Given the description of an element on the screen output the (x, y) to click on. 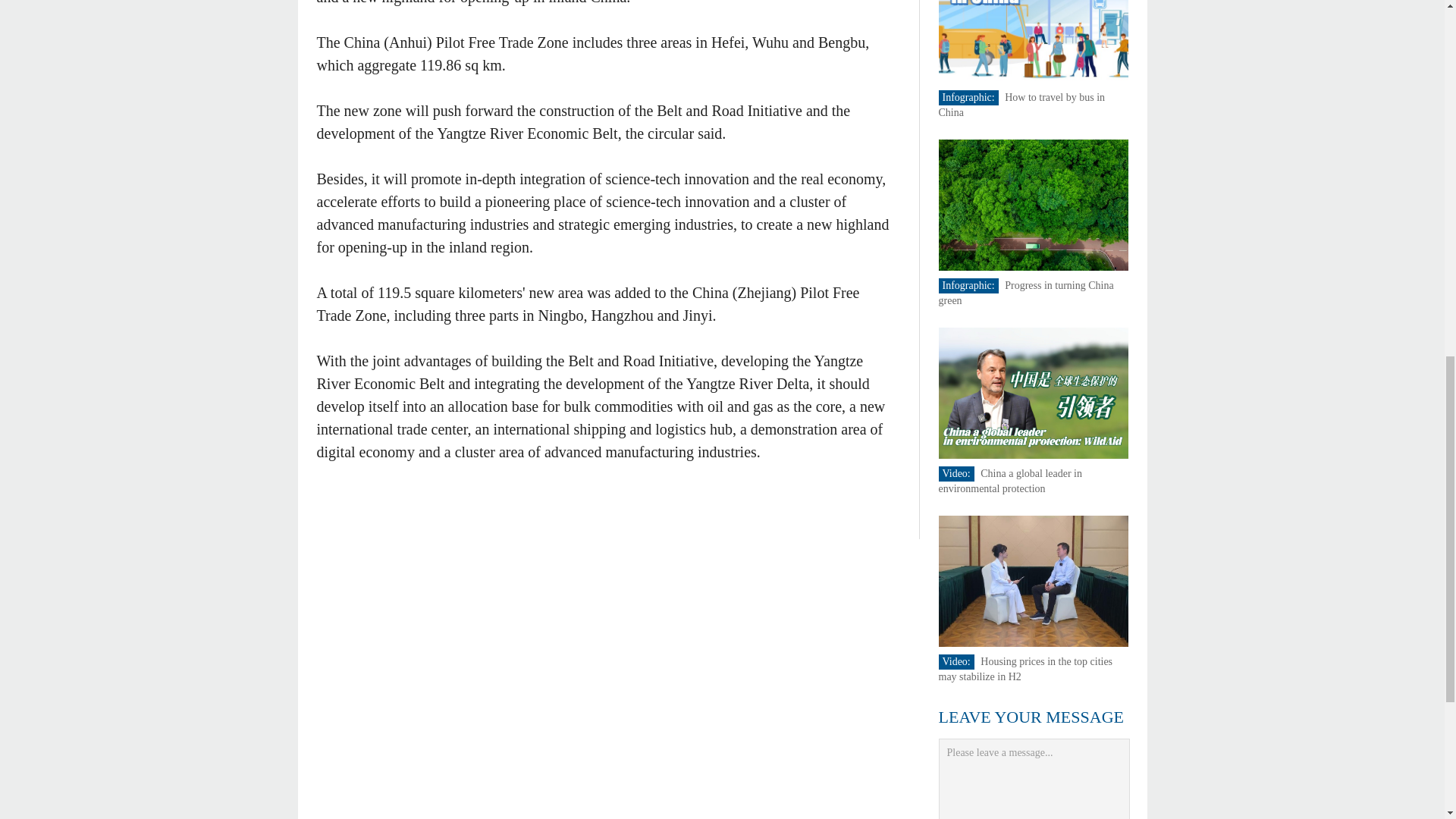
How to travel by bus in China (1022, 104)
Housing prices in the top cities may stabilize in H2 (1026, 669)
Progress in turning China green (1026, 293)
LEAVE YOUR MESSAGE (1031, 716)
China a global leader in environmental protection (1011, 480)
